Given the description of an element on the screen output the (x, y) to click on. 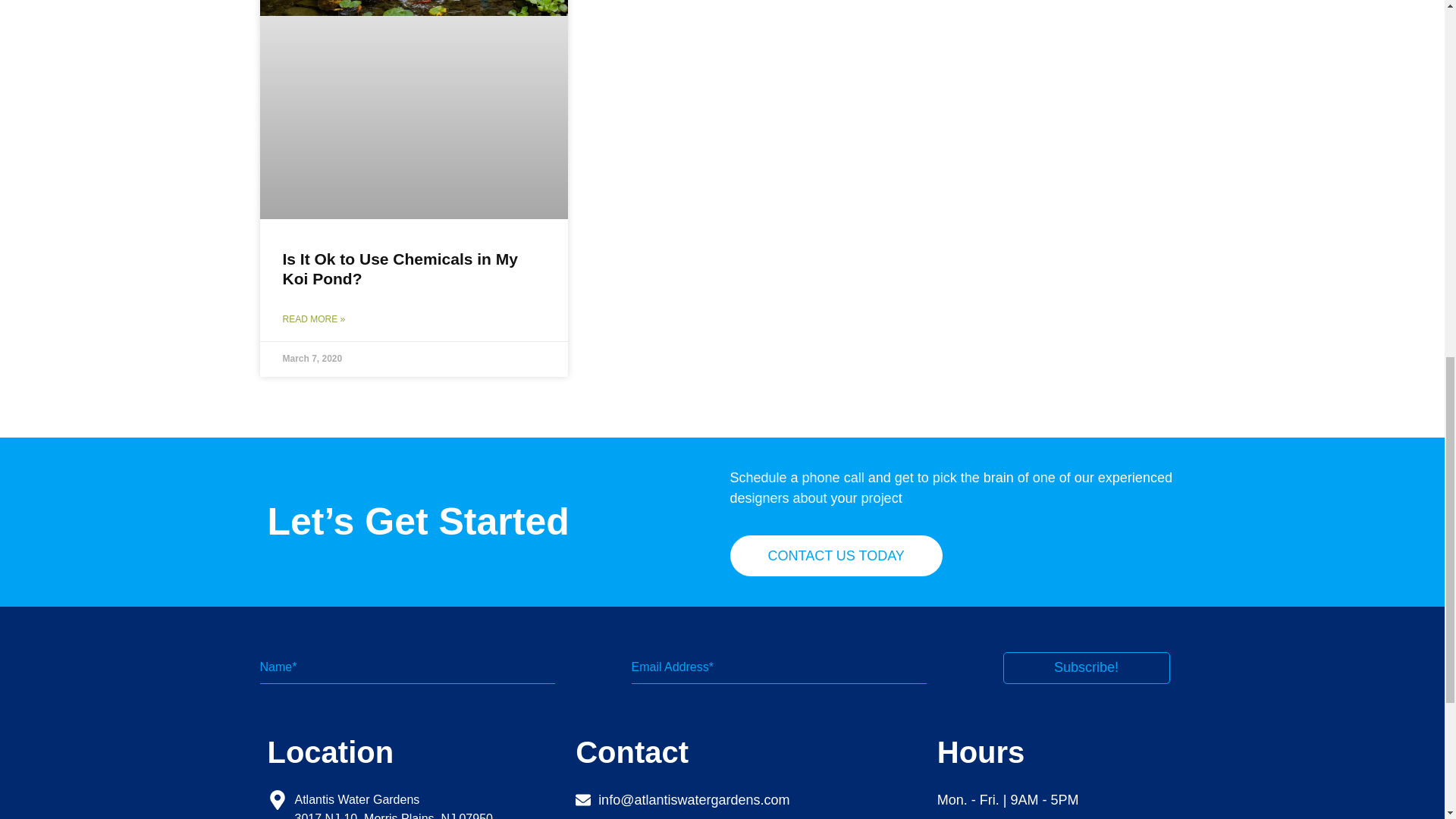
Subscribe! (1086, 667)
